Given the description of an element on the screen output the (x, y) to click on. 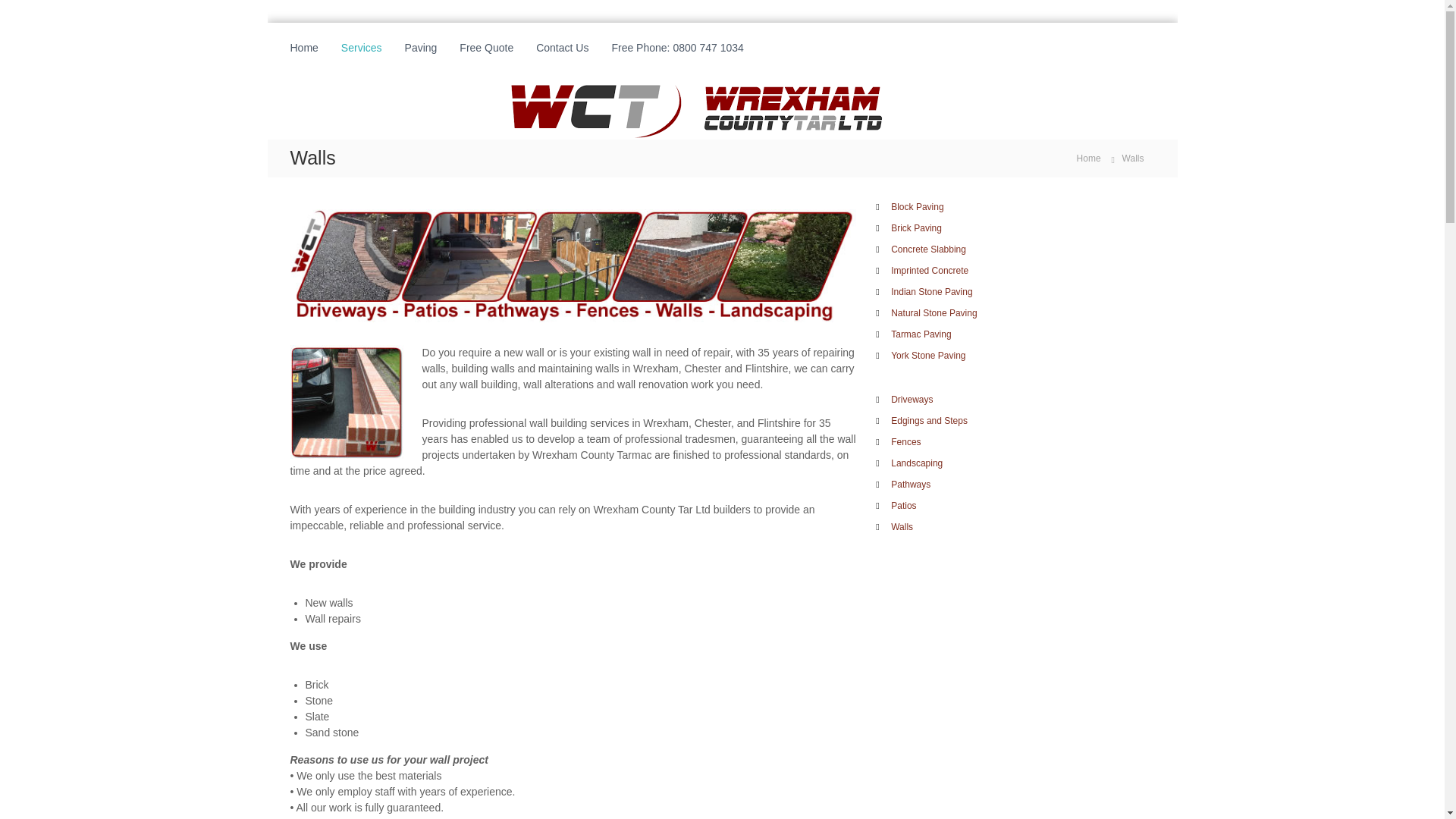
Block Paving (917, 206)
Contact Us (561, 47)
Brick Paving (916, 227)
Concrete Slabbing (928, 249)
Paving (421, 47)
Services (360, 47)
Free Quote (486, 47)
Home (1088, 157)
Home (303, 47)
Indian Stone Paving (931, 291)
